Given the description of an element on the screen output the (x, y) to click on. 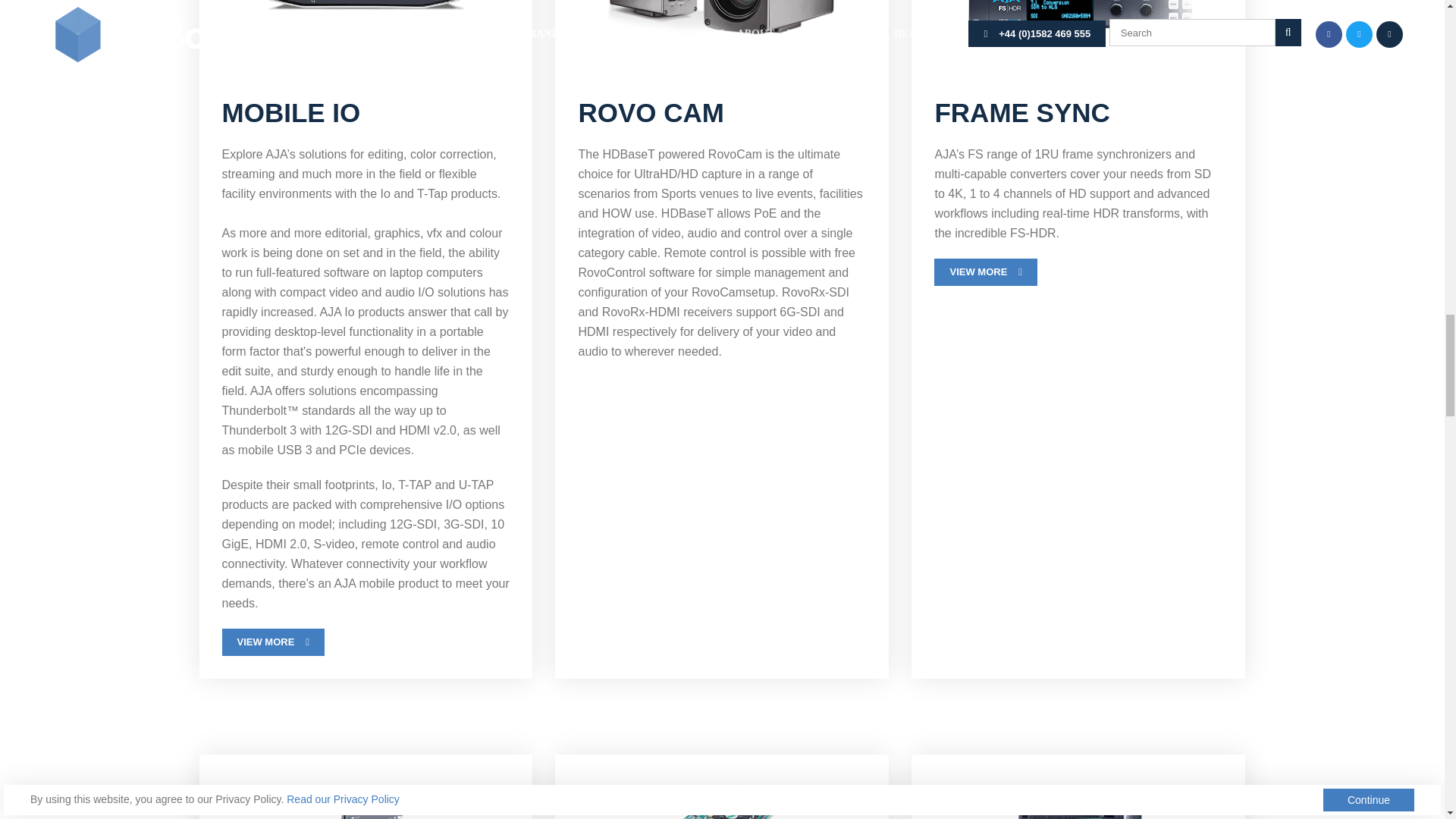
VIEW MORE (985, 271)
VIEW MORE (272, 642)
